Given the description of an element on the screen output the (x, y) to click on. 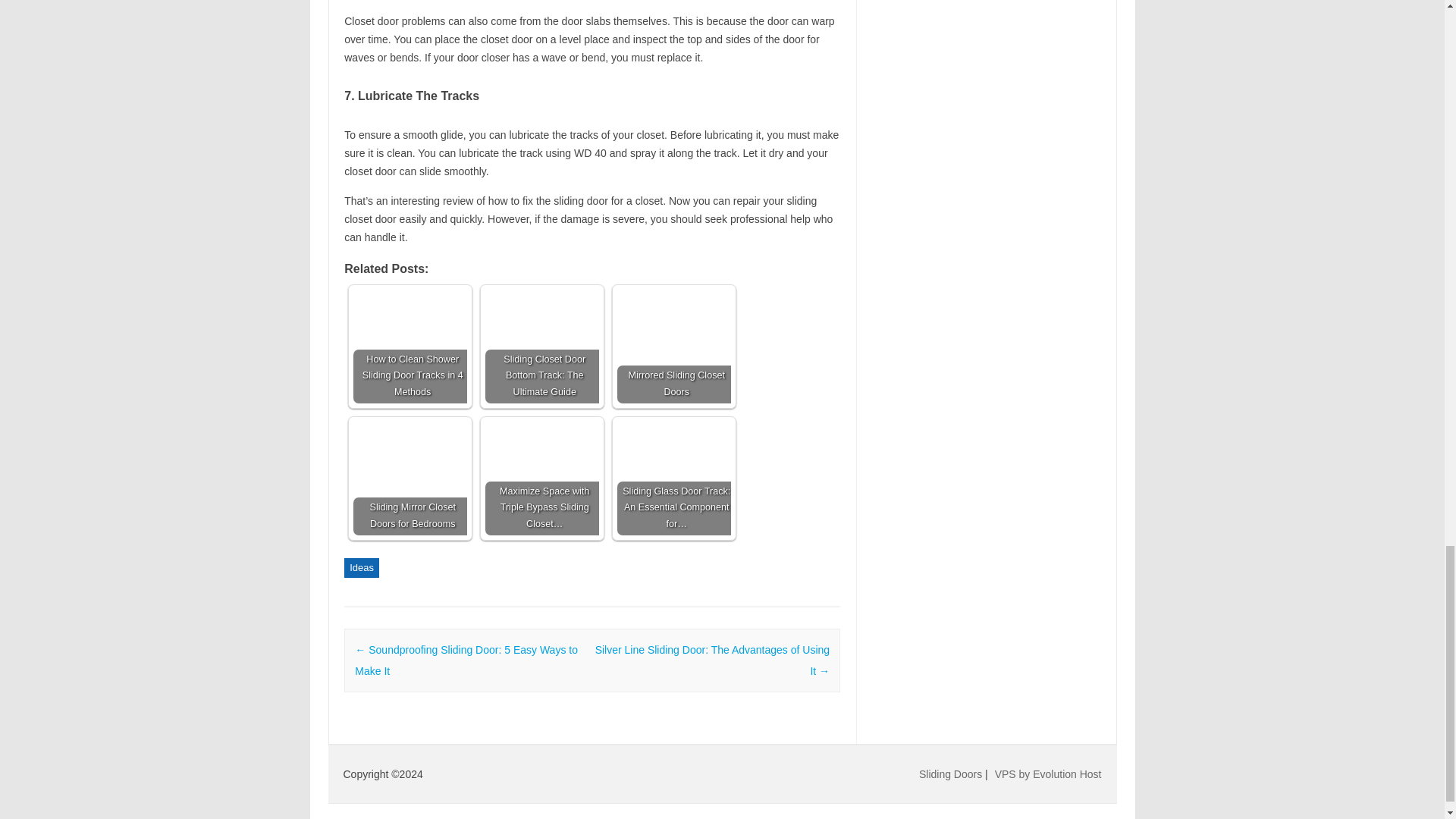
Sliding Mirror Closet Doors for Bedrooms (410, 478)
Sliding Closet Door Bottom Track: The Ultimate Guide (541, 332)
Sliding Mirror Closet Doors for Bedrooms (410, 478)
How to Clean Shower Sliding Door Tracks in 4 Methods (410, 346)
Sliding Closet Door Bottom Track: The Ultimate Guide (541, 346)
How to Clean Shower Sliding Door Tracks in 4 Methods (410, 346)
Mirrored Sliding Closet Doors (673, 346)
Ideas (360, 567)
Mirrored Sliding Closet Doors (673, 346)
